Given the description of an element on the screen output the (x, y) to click on. 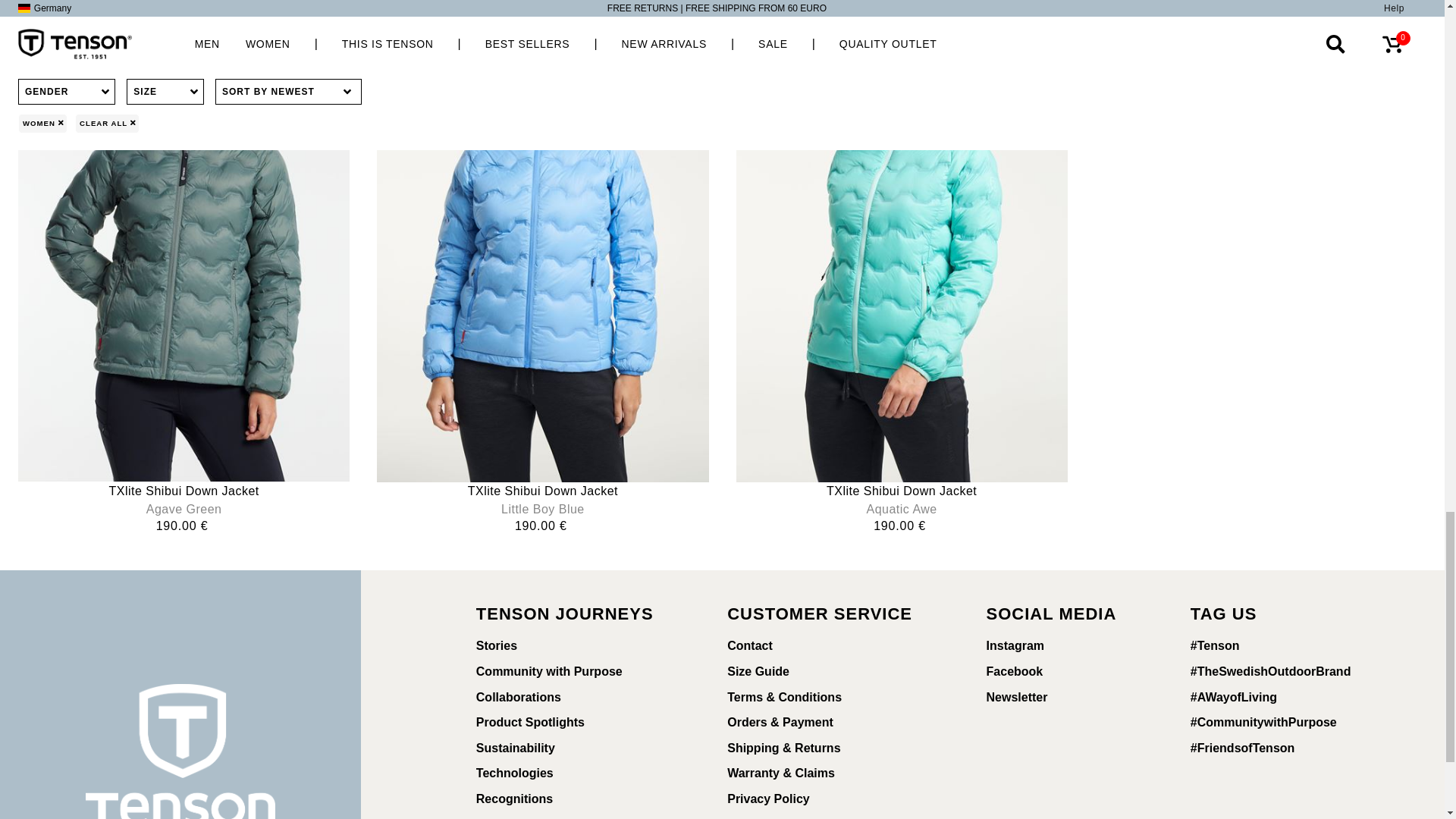
History (575, 815)
Product Spotlights (575, 722)
Instagram (1062, 646)
Newsletter (1062, 697)
Technologies (575, 774)
Size Guide (830, 671)
Facebook (1062, 671)
Media Bank (830, 815)
Recognitions (575, 799)
Terms and conditions (830, 697)
